Given the description of an element on the screen output the (x, y) to click on. 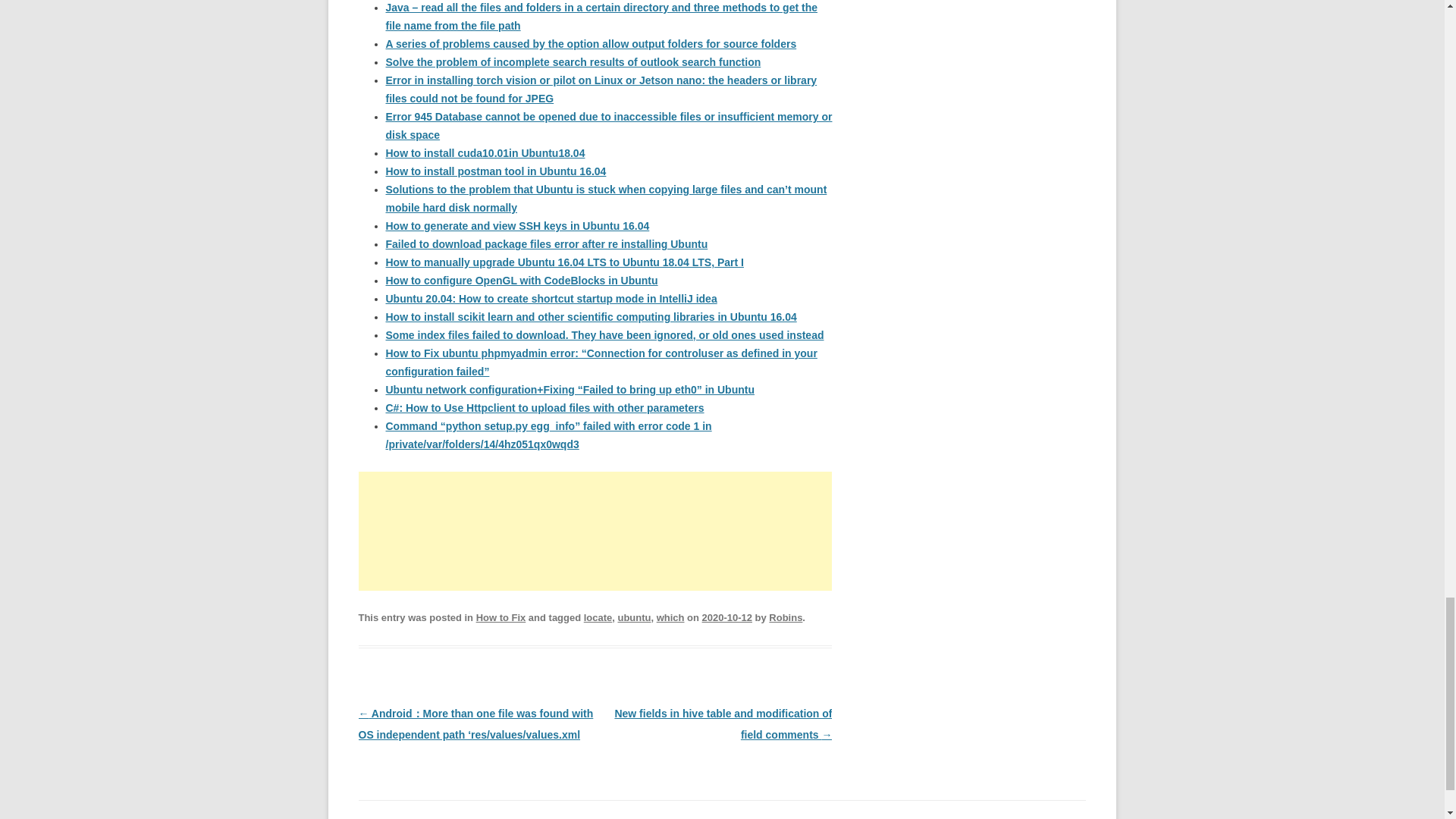
locate (597, 617)
How to Fix (500, 617)
How to install cuda10.01in Ubuntu18.04 (485, 152)
How to generate and view SSH keys in Ubuntu 16.04 (517, 225)
2020-10-12 (726, 617)
Robins (785, 617)
